Given the description of an element on the screen output the (x, y) to click on. 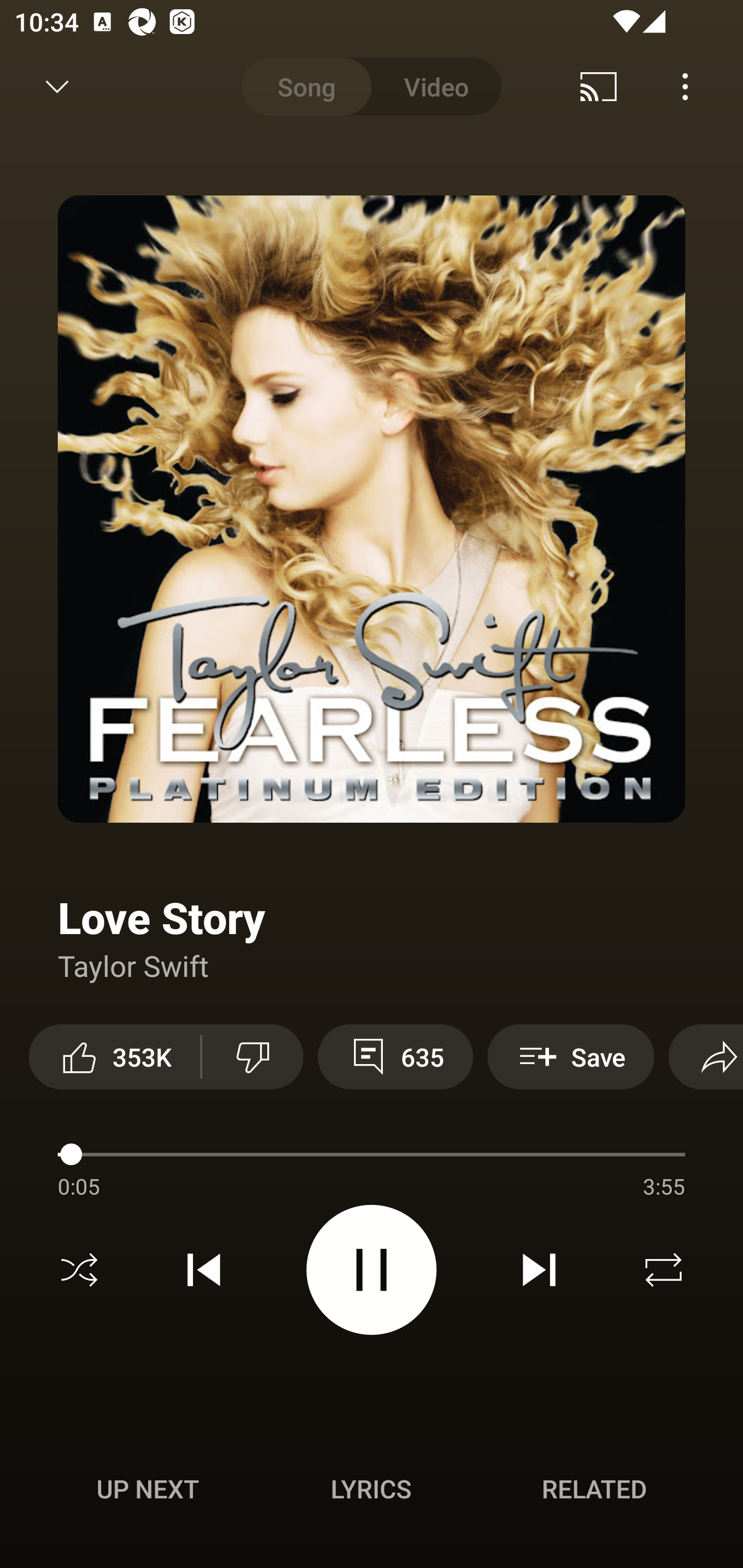
Minimize (57, 86)
Cast. Disconnected (598, 86)
Menu (684, 86)
Dislike (252, 1056)
635 View 635 comments (395, 1056)
Save Save to playlist (570, 1056)
Share (705, 1056)
Pause video (371, 1269)
Shuffle off (79, 1269)
Previous track (203, 1269)
Next track (538, 1269)
Repeat off (663, 1269)
Up next UP NEXT Lyrics LYRICS Related RELATED (371, 1491)
Lyrics LYRICS (370, 1488)
Related RELATED (594, 1488)
